Given the description of an element on the screen output the (x, y) to click on. 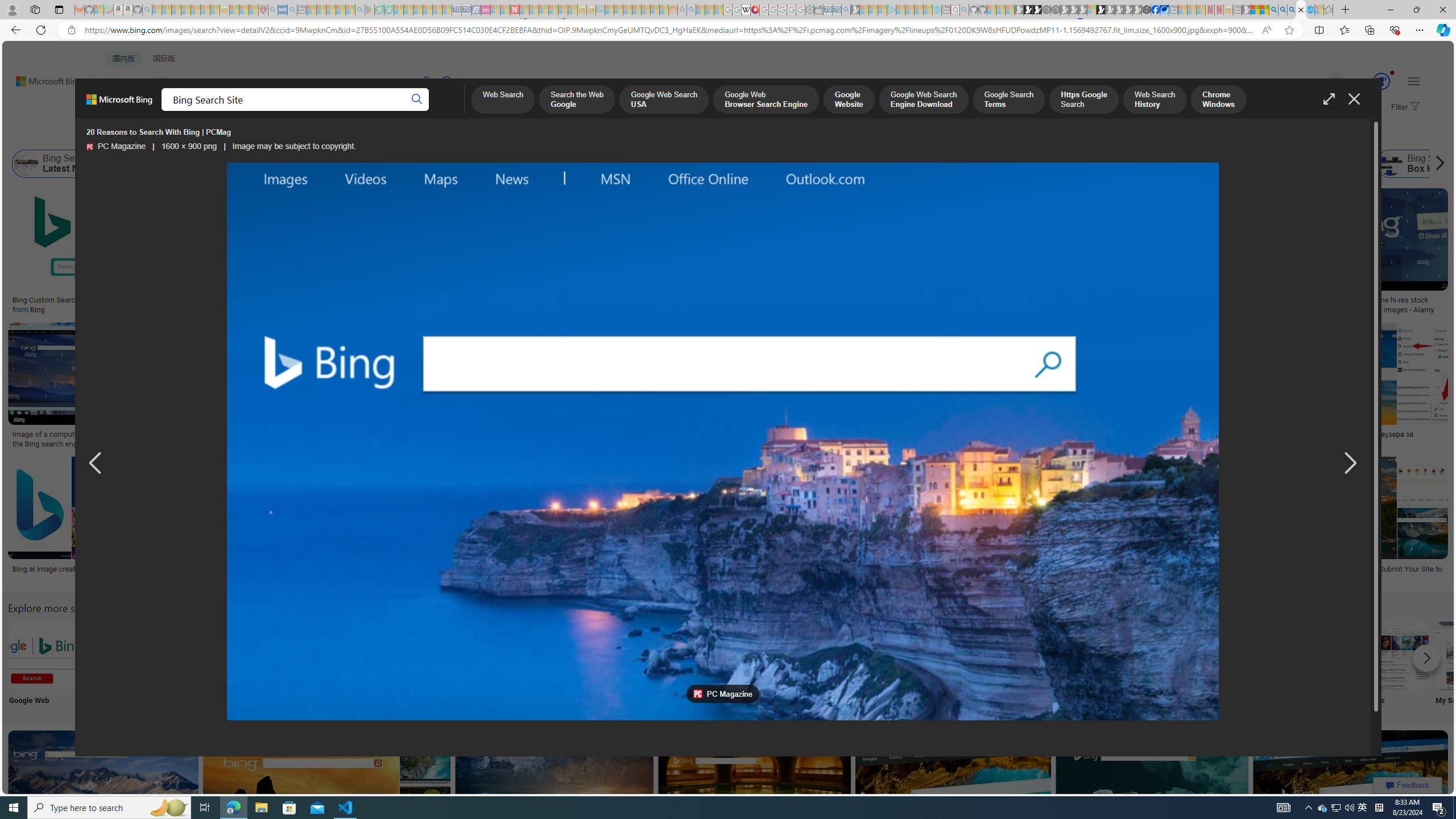
Type (212, 135)
Bing People Search (568, 654)
Bing Searches Today (249, 163)
Google Web Search Engine Download (923, 100)
Bing ai image creator (65, 568)
License (377, 135)
Bing People Search People (568, 665)
AutomationID: serp_medal_svg (1381, 81)
Future Focus Report 2024 - Sleeping (1054, 9)
Old Bing (925, 163)
